Given the description of an element on the screen output the (x, y) to click on. 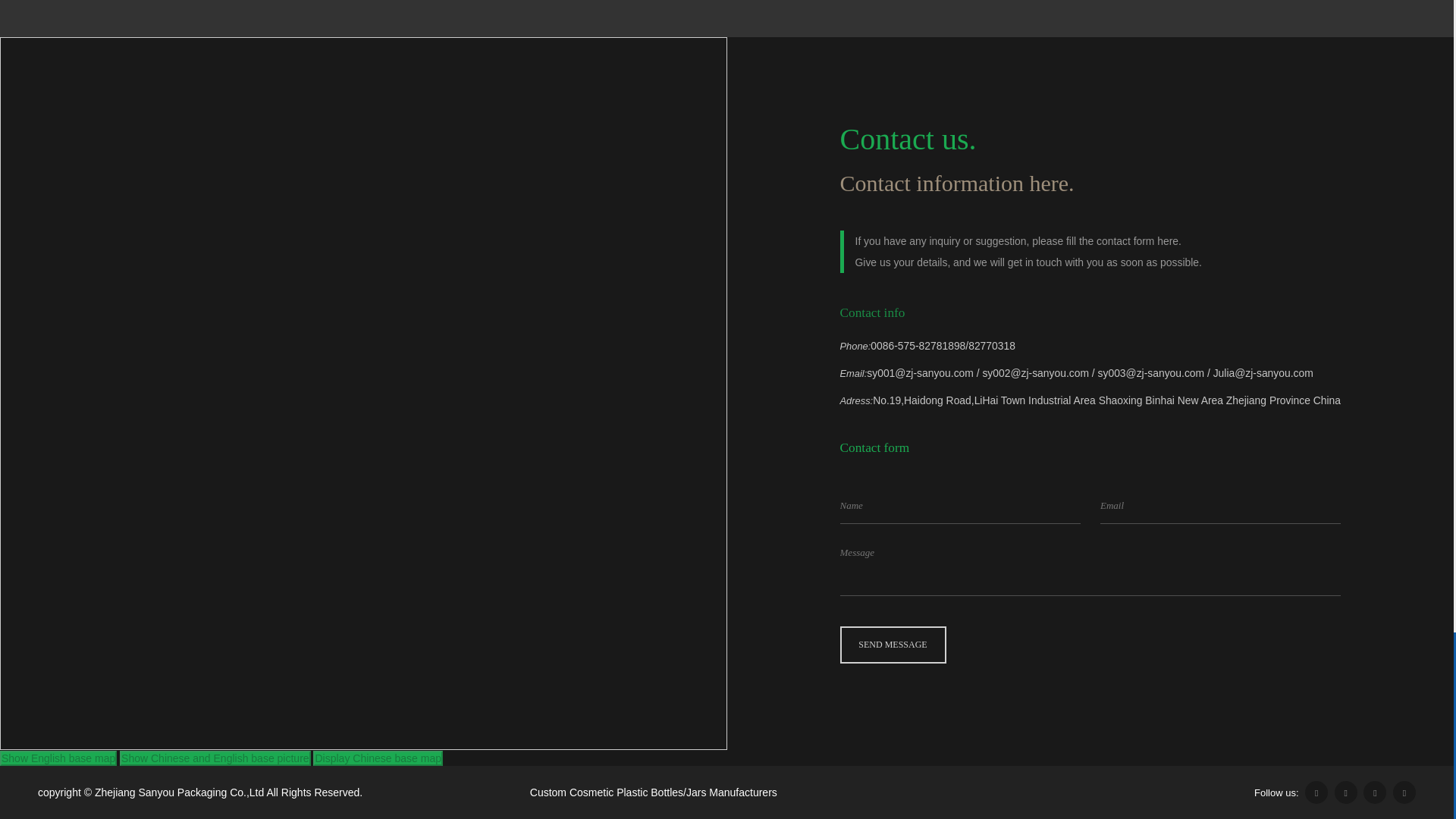
Show Chinese and English base picture (215, 758)
Display Chinese base map (377, 758)
send message (893, 644)
Show English base map (58, 758)
